Given the description of an element on the screen output the (x, y) to click on. 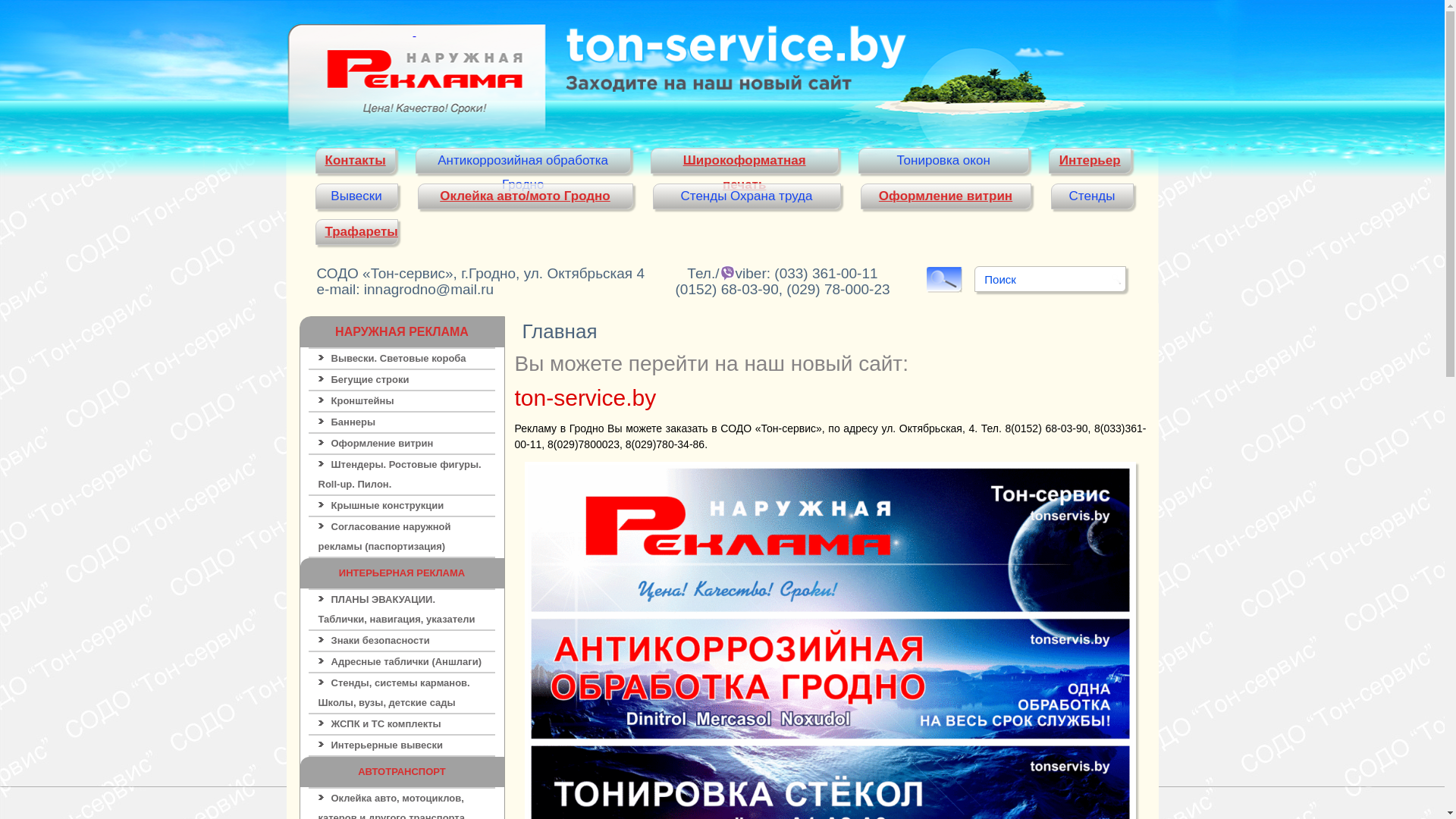
ton-service.by Element type: text (584, 397)
  Element type: text (414, 76)
